Given the description of an element on the screen output the (x, y) to click on. 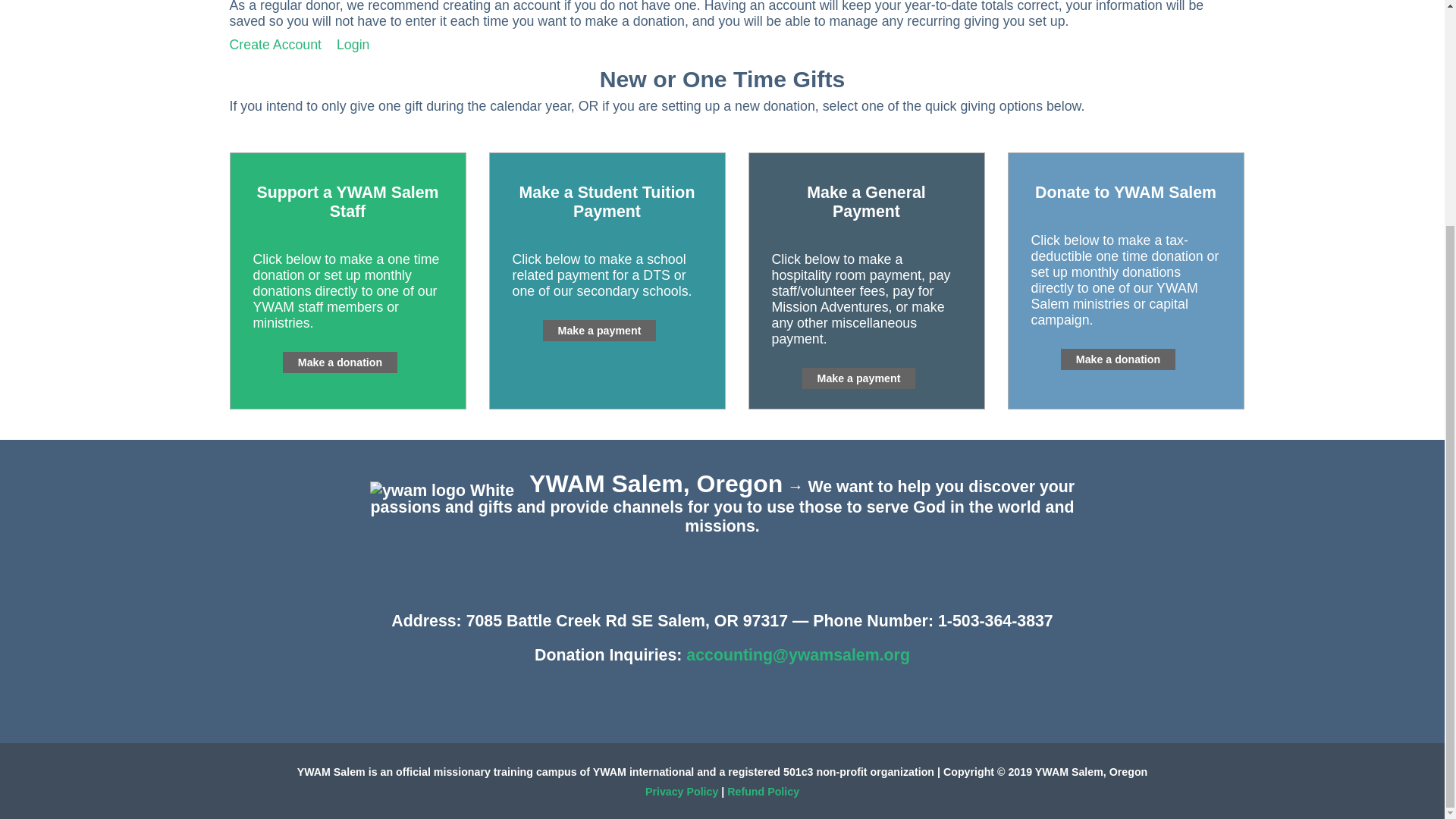
Login (352, 44)
Make a payment (599, 330)
Make a donation (1117, 359)
Make a payment (858, 378)
Make a donation (339, 362)
Refund Policy (762, 791)
Create Account (274, 44)
Privacy Policy (681, 791)
ywam logo White (441, 490)
